Given the description of an element on the screen output the (x, y) to click on. 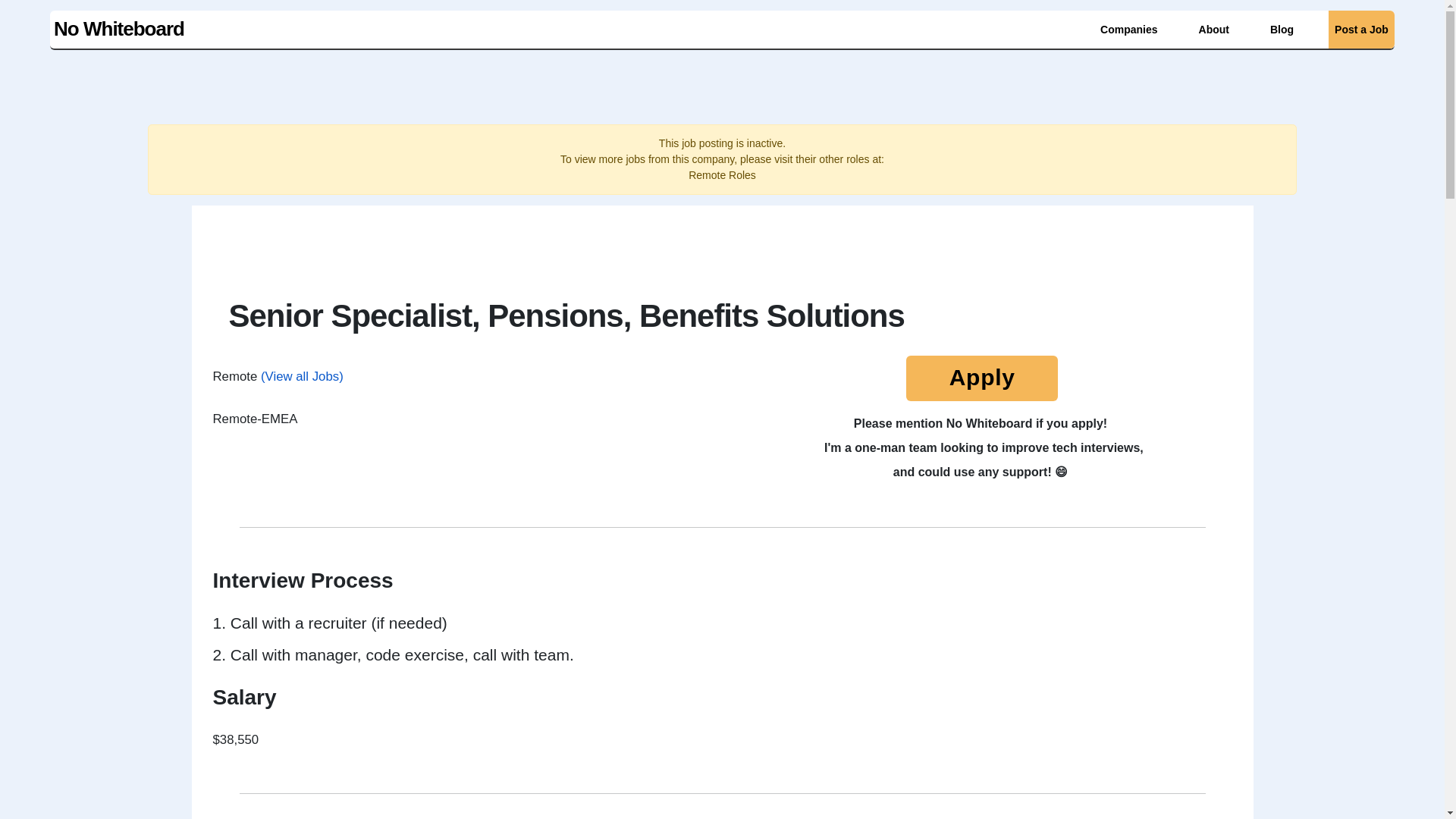
Blog (1278, 28)
Post a Job (1357, 28)
Blog (1281, 29)
Post a Job (1360, 29)
Apply (981, 378)
Companies (1124, 28)
Companies (1128, 29)
No Whiteboard (116, 27)
Remote Roles (721, 174)
About (1209, 28)
About (1213, 29)
Apply (981, 381)
